Given the description of an element on the screen output the (x, y) to click on. 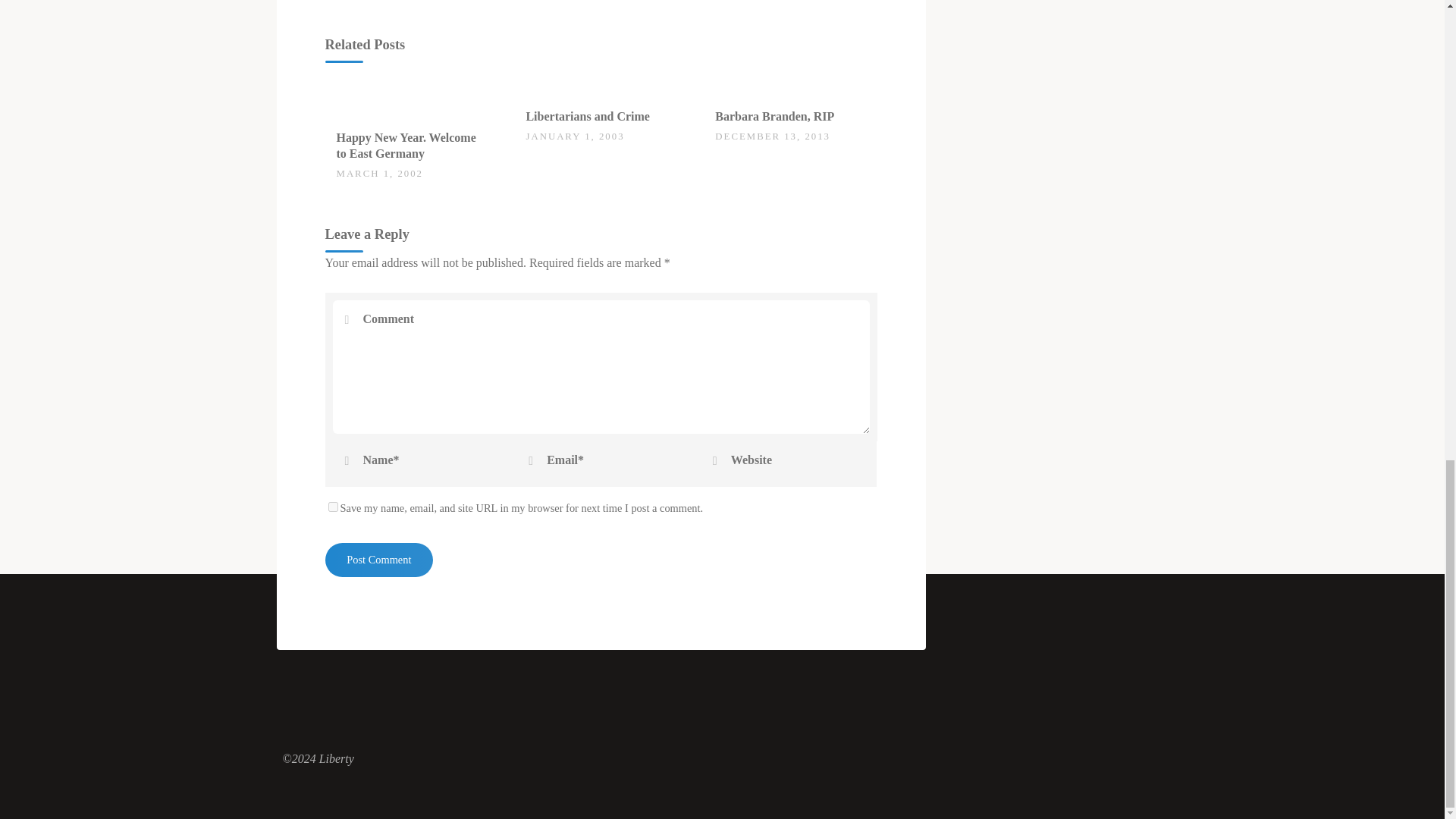
Libertarians and Crime (587, 115)
Happy New Year. Welcome to East Germany (410, 97)
0 (344, 130)
Post Comment (378, 560)
0 (533, 108)
Happy New Year. Welcome to East Germany (406, 145)
yes (332, 506)
